Given the description of an element on the screen output the (x, y) to click on. 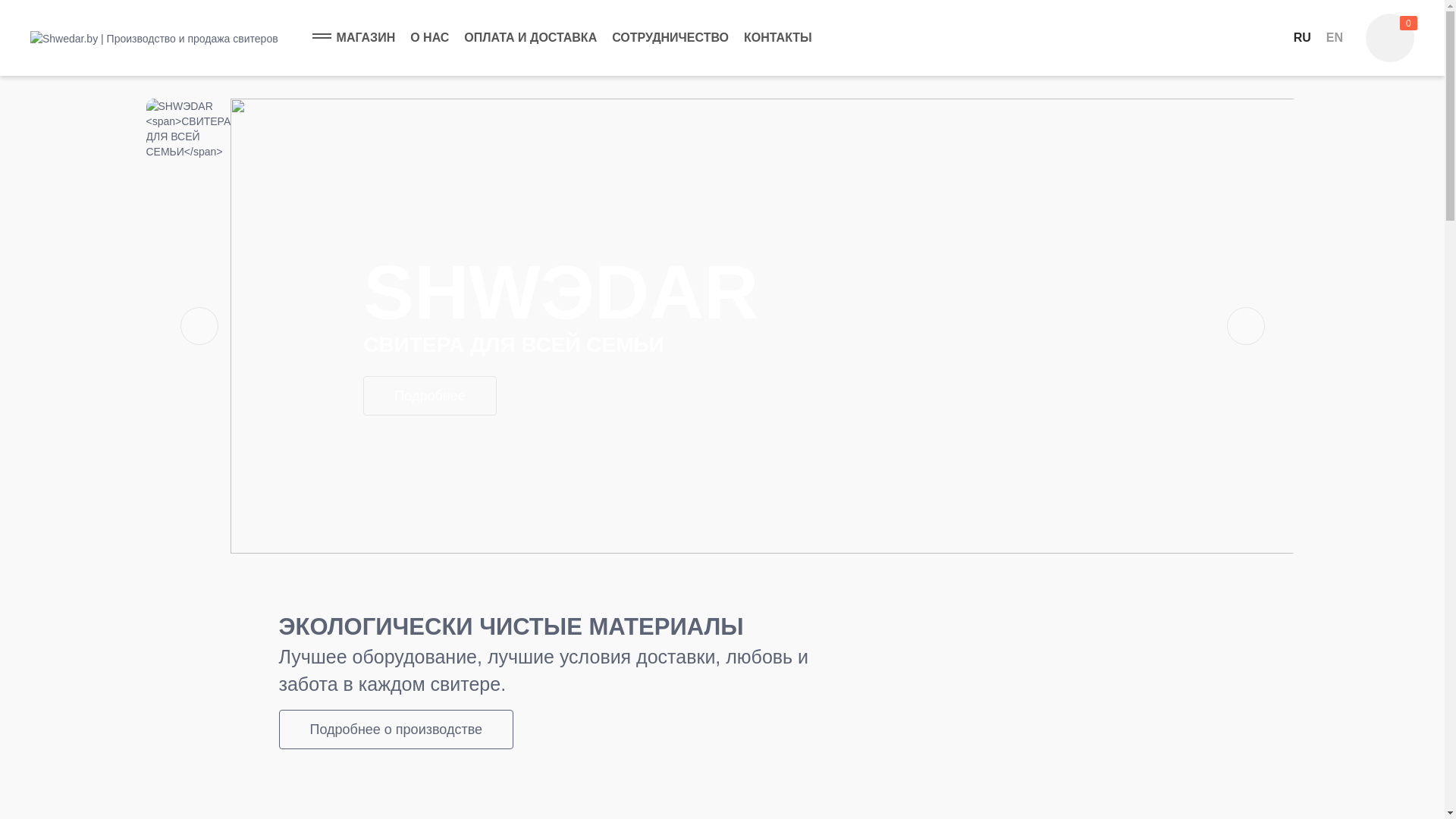
0 Element type: text (1389, 37)
EN Element type: text (1334, 37)
